Given the description of an element on the screen output the (x, y) to click on. 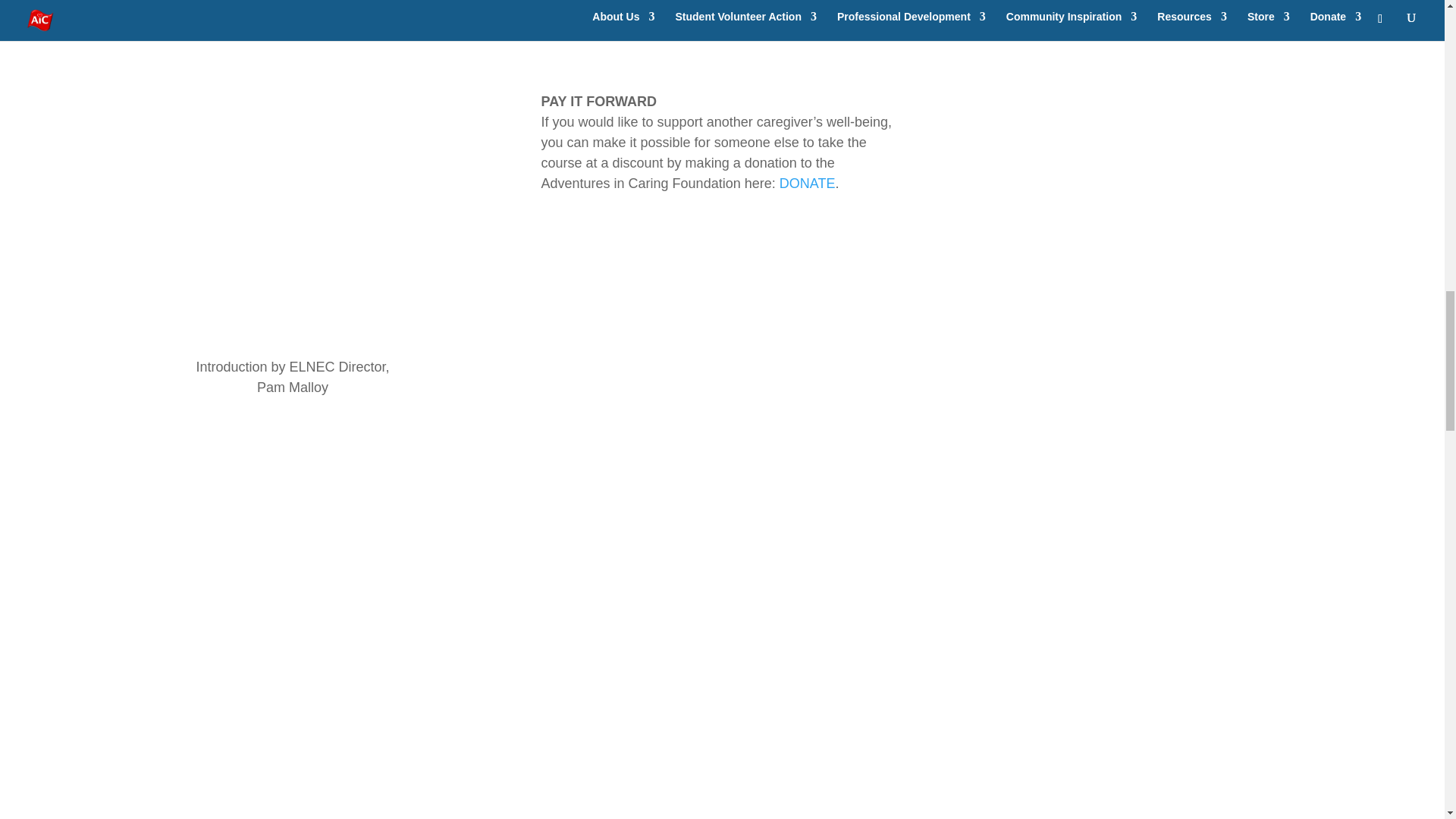
Introduction by ELNEC Director, Pam Malloy (293, 168)
